Given the description of an element on the screen output the (x, y) to click on. 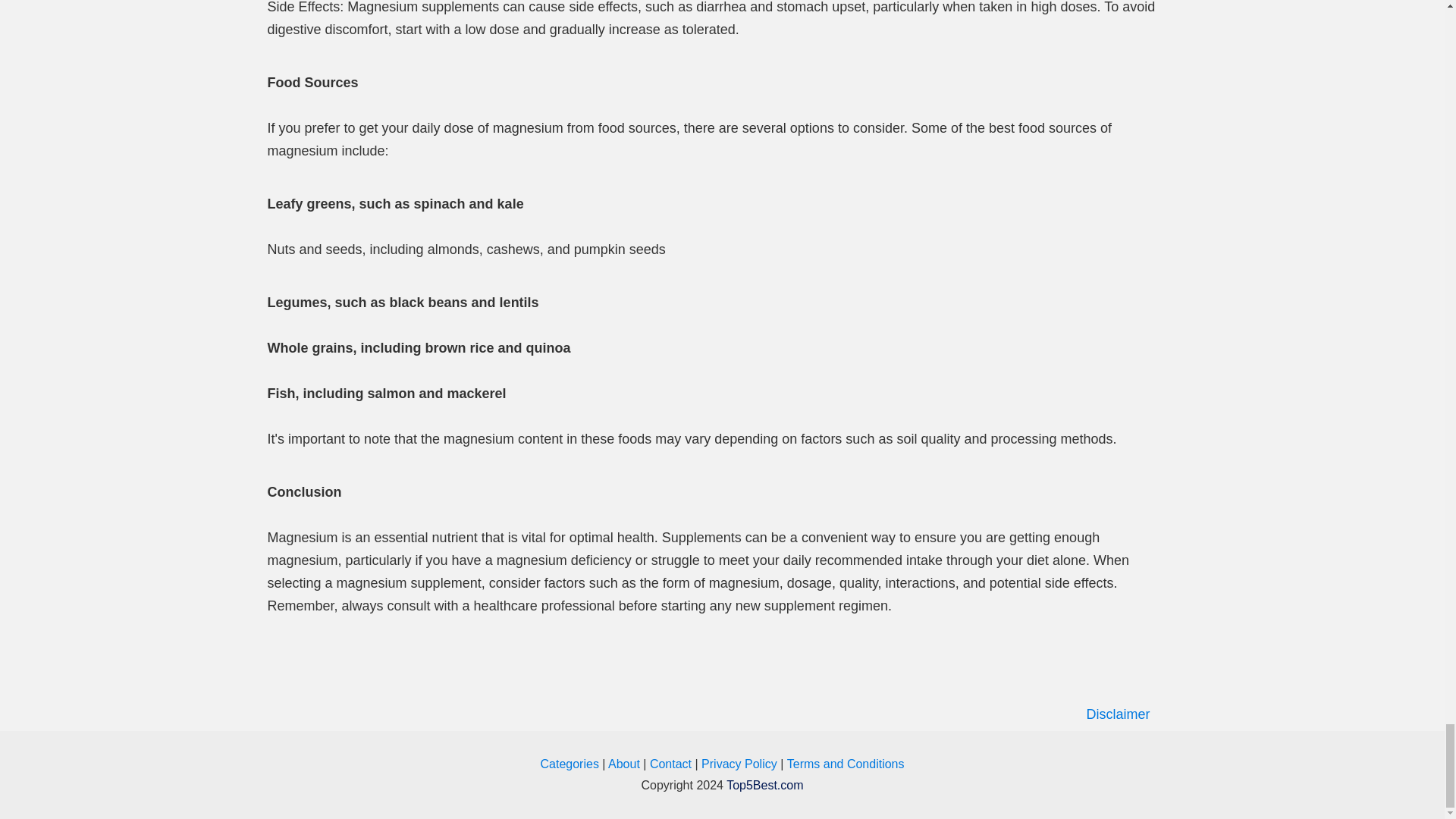
Terms and Conditions (845, 763)
Contact (670, 763)
Categories (571, 763)
Privacy Policy (739, 763)
About (624, 763)
Disclaimer (722, 713)
